Given the description of an element on the screen output the (x, y) to click on. 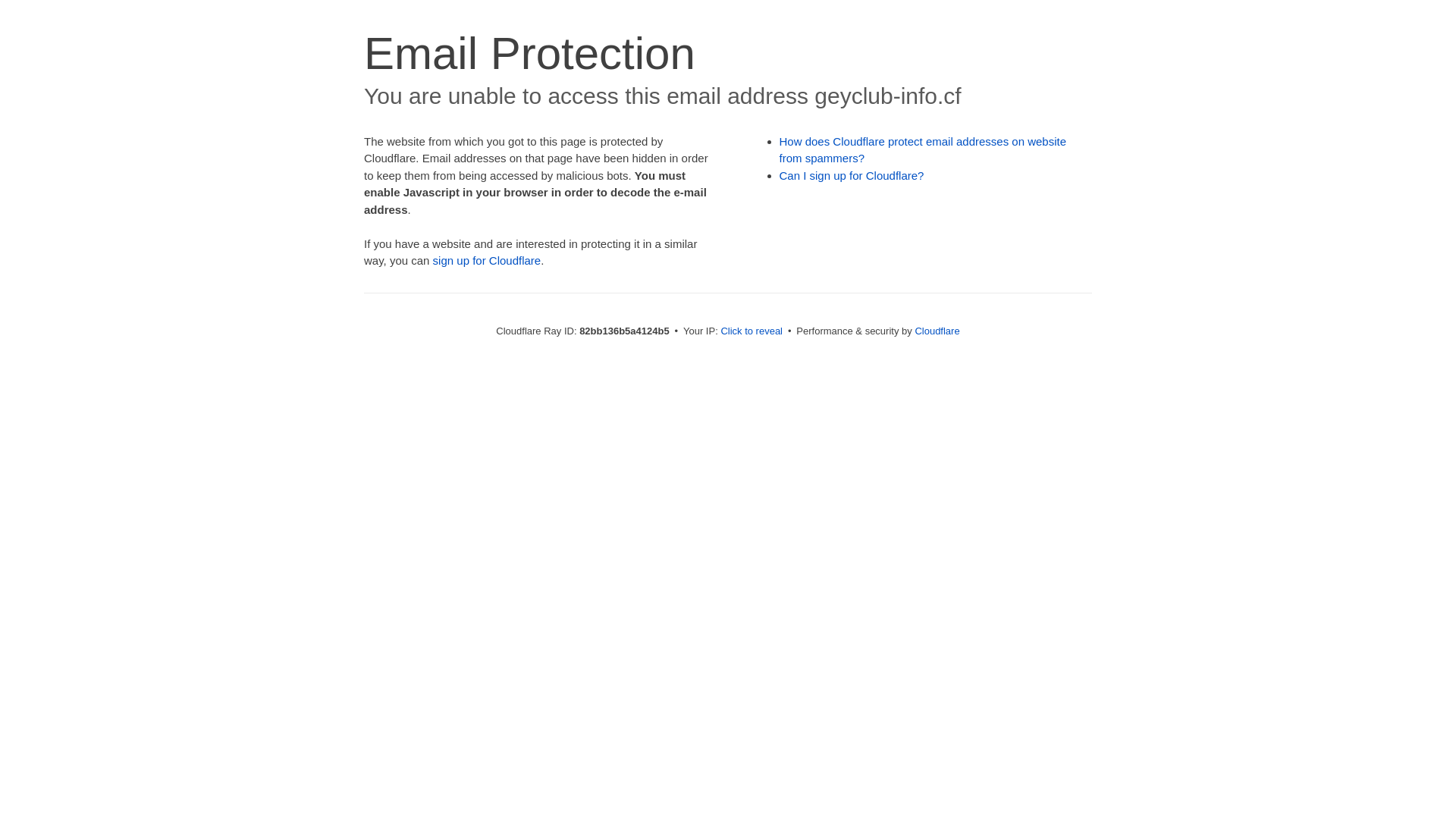
Cloudflare Element type: text (936, 330)
Can I sign up for Cloudflare? Element type: text (851, 175)
sign up for Cloudflare Element type: text (487, 260)
Click to reveal Element type: text (751, 330)
